Given the description of an element on the screen output the (x, y) to click on. 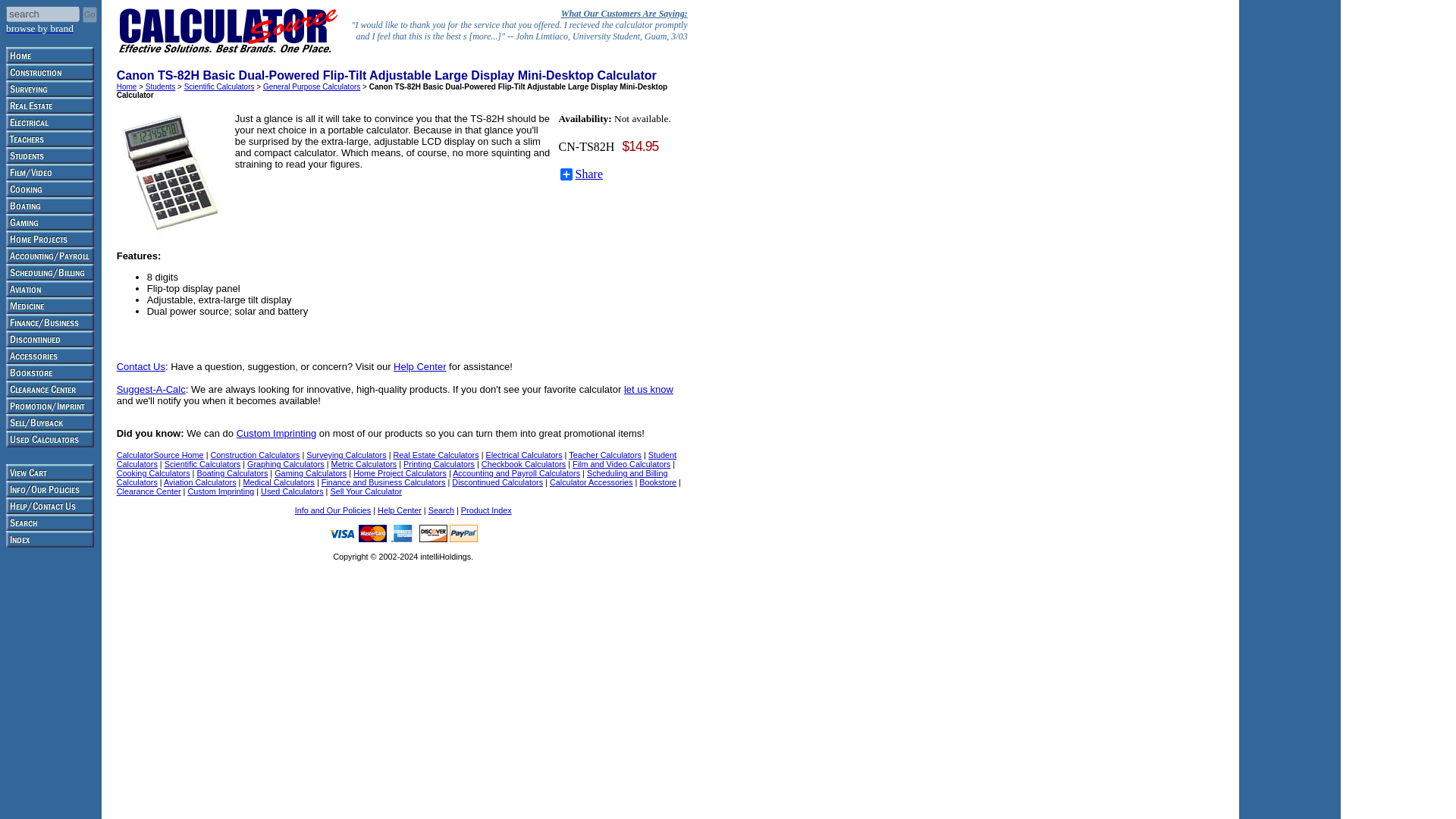
Suggest-A-Calc (151, 389)
Electrical Calculators (523, 454)
CalculatorSource Home (159, 454)
Home Project Calculators (399, 472)
Students (159, 86)
Go (89, 13)
Contact Us (140, 366)
PayPal (463, 533)
Click to read more... (518, 24)
Share (581, 174)
Surveying Calculators (345, 454)
Aviation Calculators (199, 481)
Real Estate Calculators (436, 454)
General Purpose Calculators (311, 86)
let us know (648, 389)
